Given the description of an element on the screen output the (x, y) to click on. 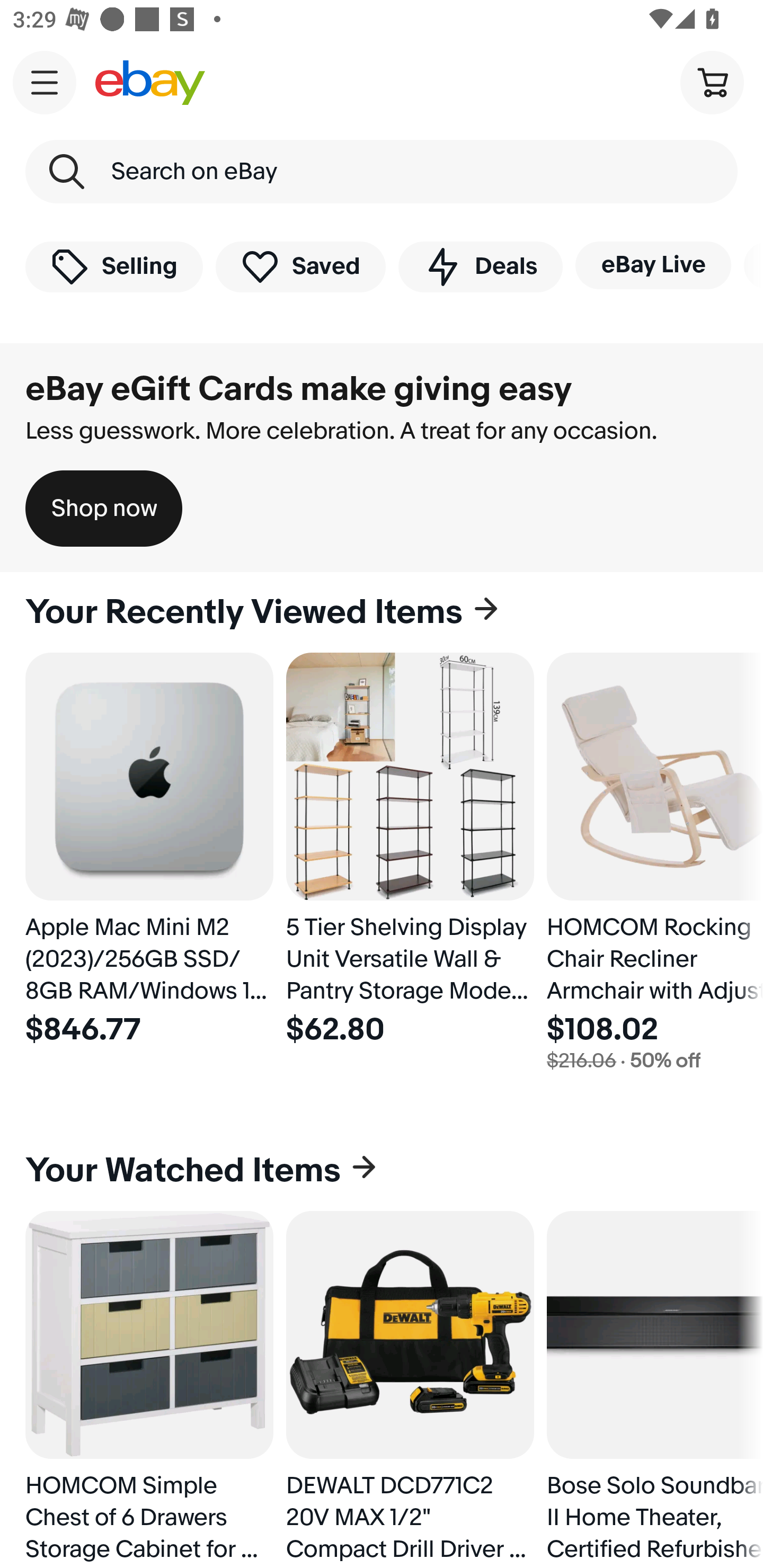
Main navigation, open (44, 82)
Cart button shopping cart (711, 81)
Search on eBay Search Keyword Search on eBay (381, 171)
Selling (113, 266)
Saved (300, 266)
Deals (480, 266)
eBay Live (652, 264)
eBay eGift Cards make giving easy (298, 389)
Shop now (103, 508)
Your Recently Viewed Items   (381, 612)
Your Watched Items   (381, 1170)
